Given the description of an element on the screen output the (x, y) to click on. 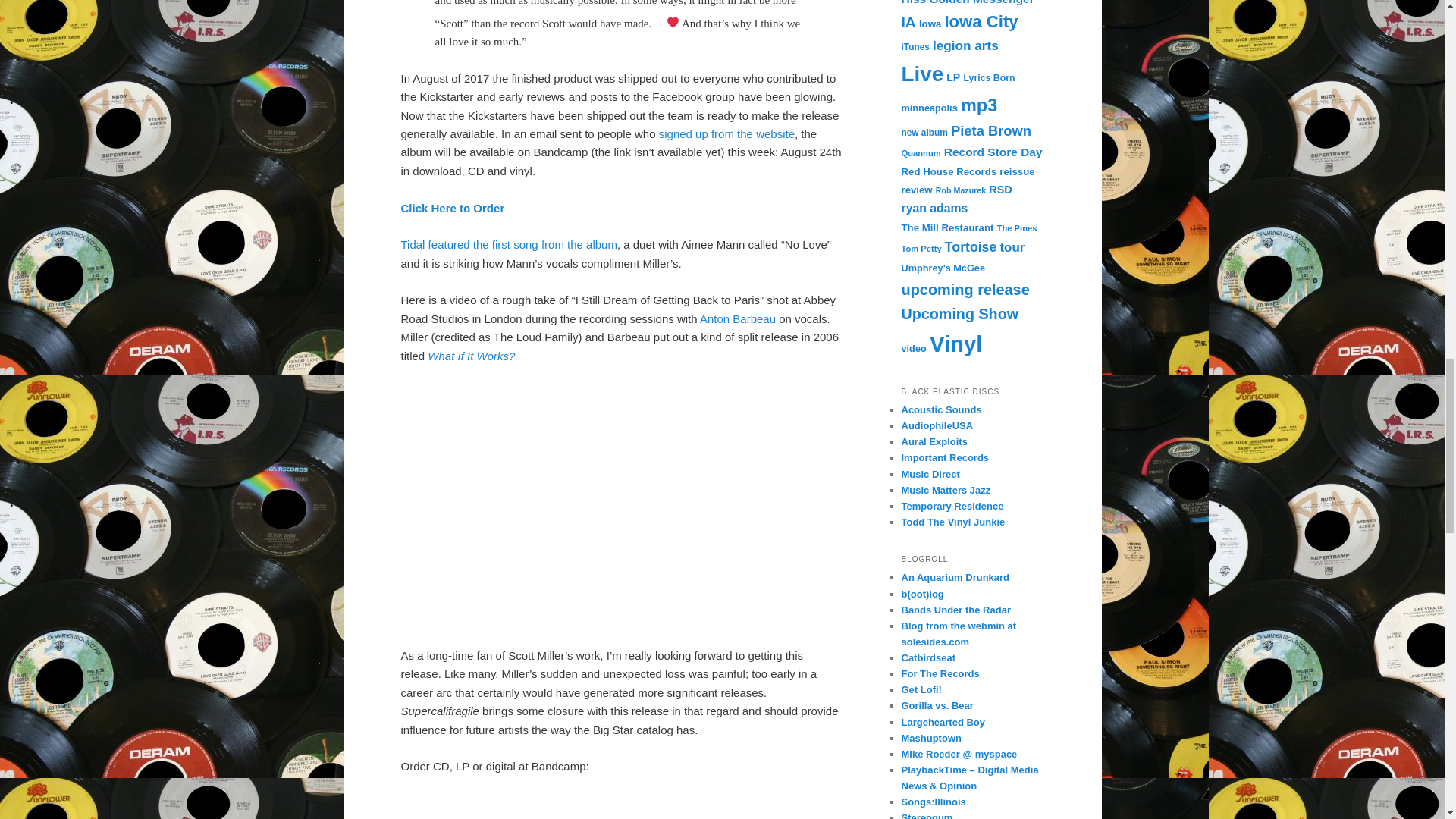
signed up from the website (726, 133)
Click Here to Order (451, 207)
What If It Works? (471, 355)
A muzik bloggy (936, 705)
Tidal featured the first song from the album (507, 244)
Vinyl issue label for bands like Mono, Fridge, Maserati (952, 505)
New, sealed or mint condition records. (936, 425)
Anton Barbeau (738, 318)
